Given the description of an element on the screen output the (x, y) to click on. 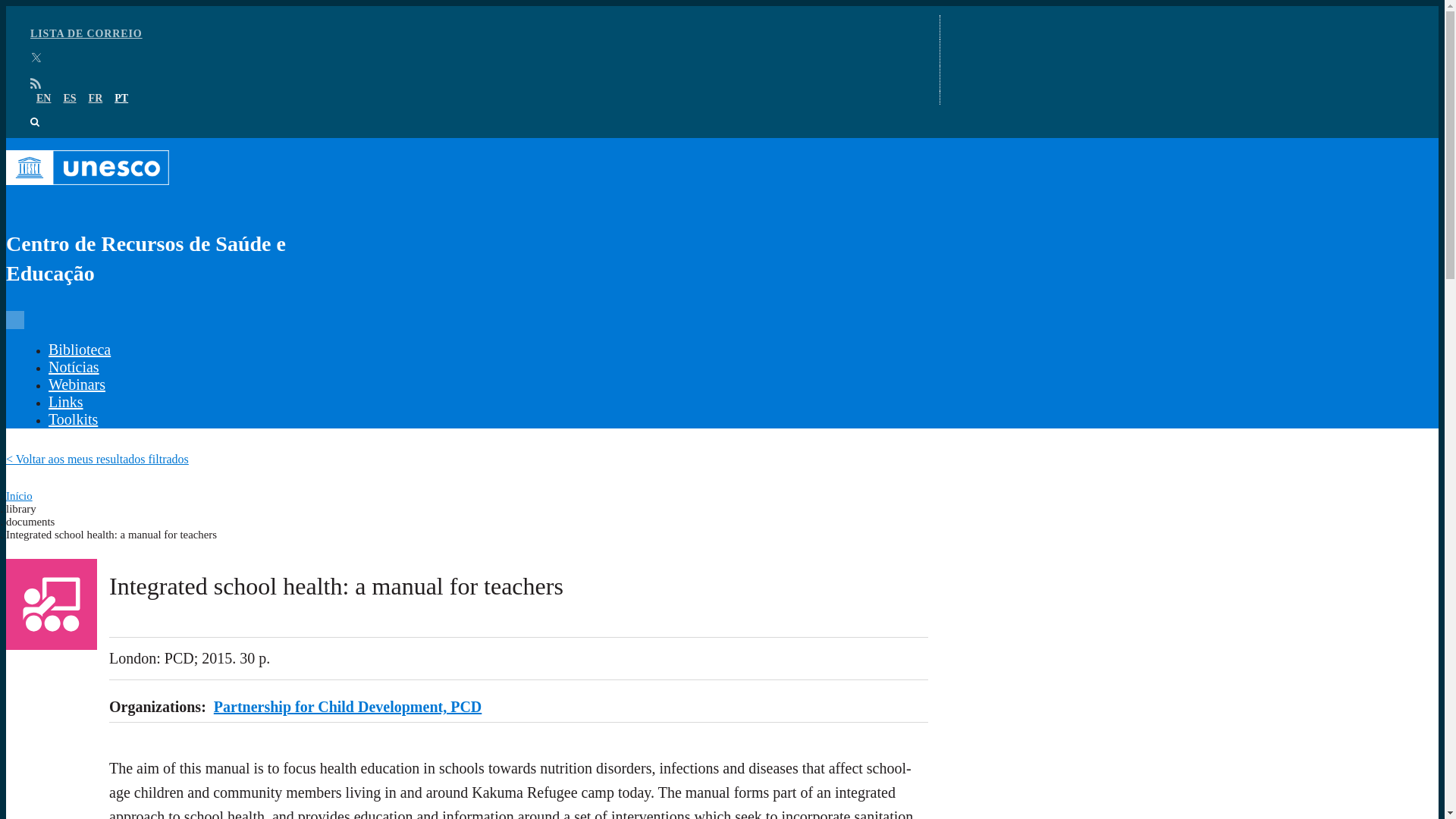
PT (121, 98)
Biblioteca (79, 349)
LISTA DE CORREIO (86, 33)
Webinars (76, 384)
Toolkits (72, 419)
Partnership for Child Development, PCD (347, 706)
EN (43, 98)
ES (68, 98)
Links (65, 401)
FR (95, 98)
